Given the description of an element on the screen output the (x, y) to click on. 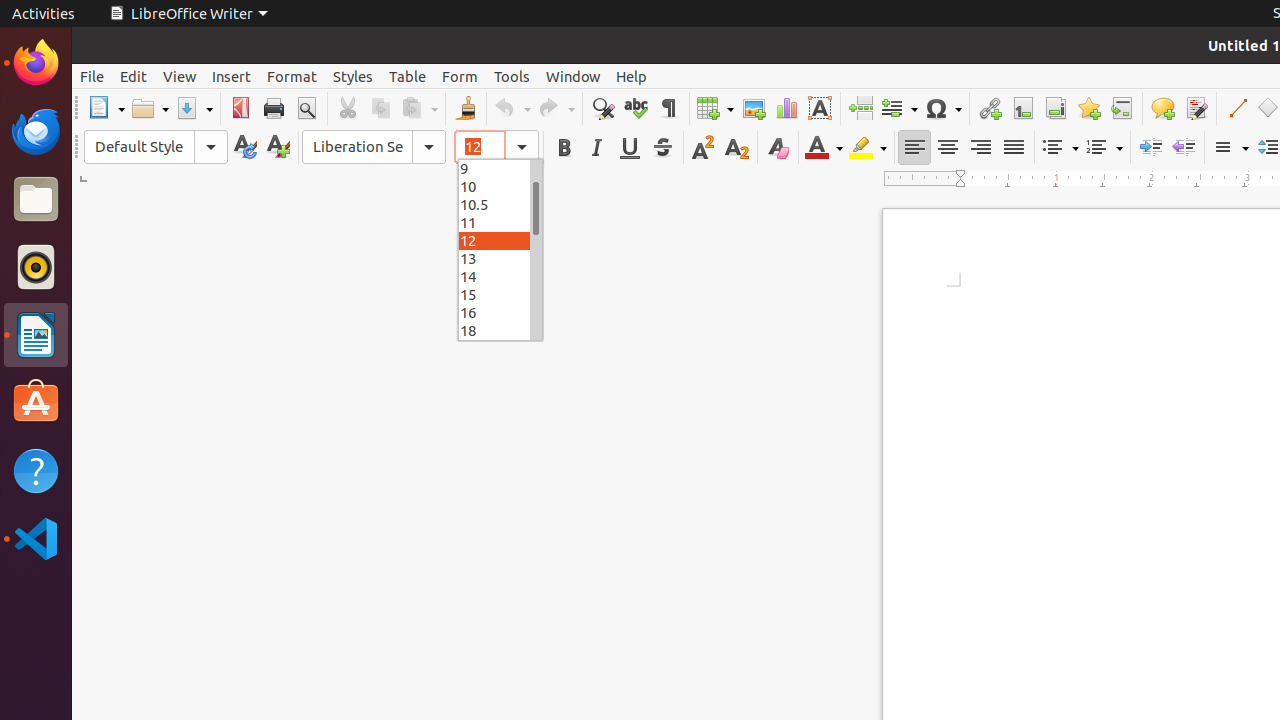
LibreOffice Writer Element type: push-button (36, 334)
Highlight Color Element type: push-button (868, 147)
Comment Element type: push-button (1162, 108)
Paste Element type: push-button (419, 108)
Table Element type: menu (407, 76)
